Given the description of an element on the screen output the (x, y) to click on. 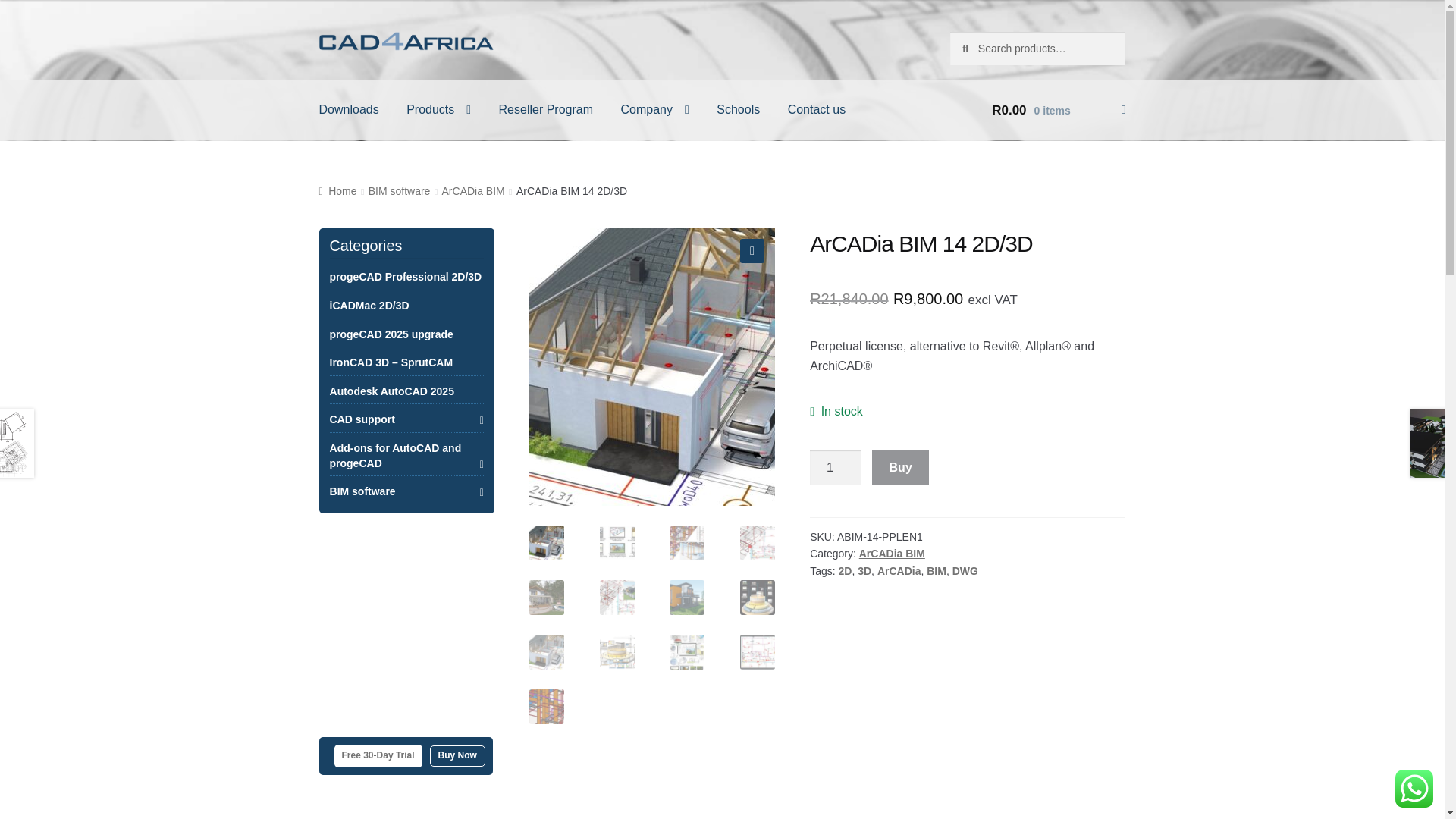
Products (438, 109)
Downloads (349, 109)
1 (835, 467)
Company (654, 109)
Contact us (810, 109)
Schools (737, 109)
Reseller Program (545, 109)
View your shopping cart (1037, 110)
